Given the description of an element on the screen output the (x, y) to click on. 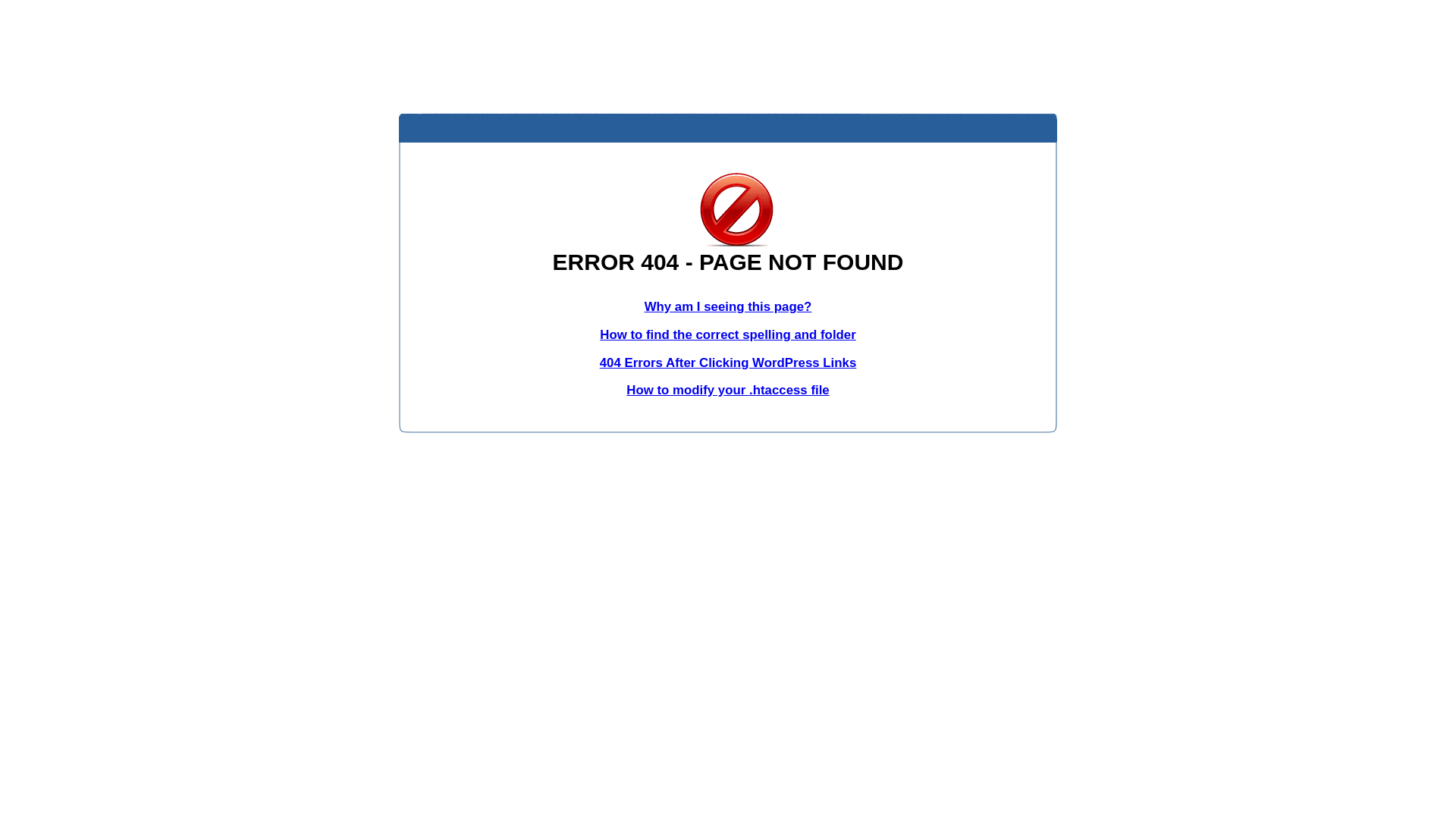
How to find the correct spelling and folder Element type: text (727, 334)
404 Errors After Clicking WordPress Links Element type: text (727, 362)
Why am I seeing this page? Element type: text (728, 306)
How to modify your .htaccess file Element type: text (727, 389)
